Given the description of an element on the screen output the (x, y) to click on. 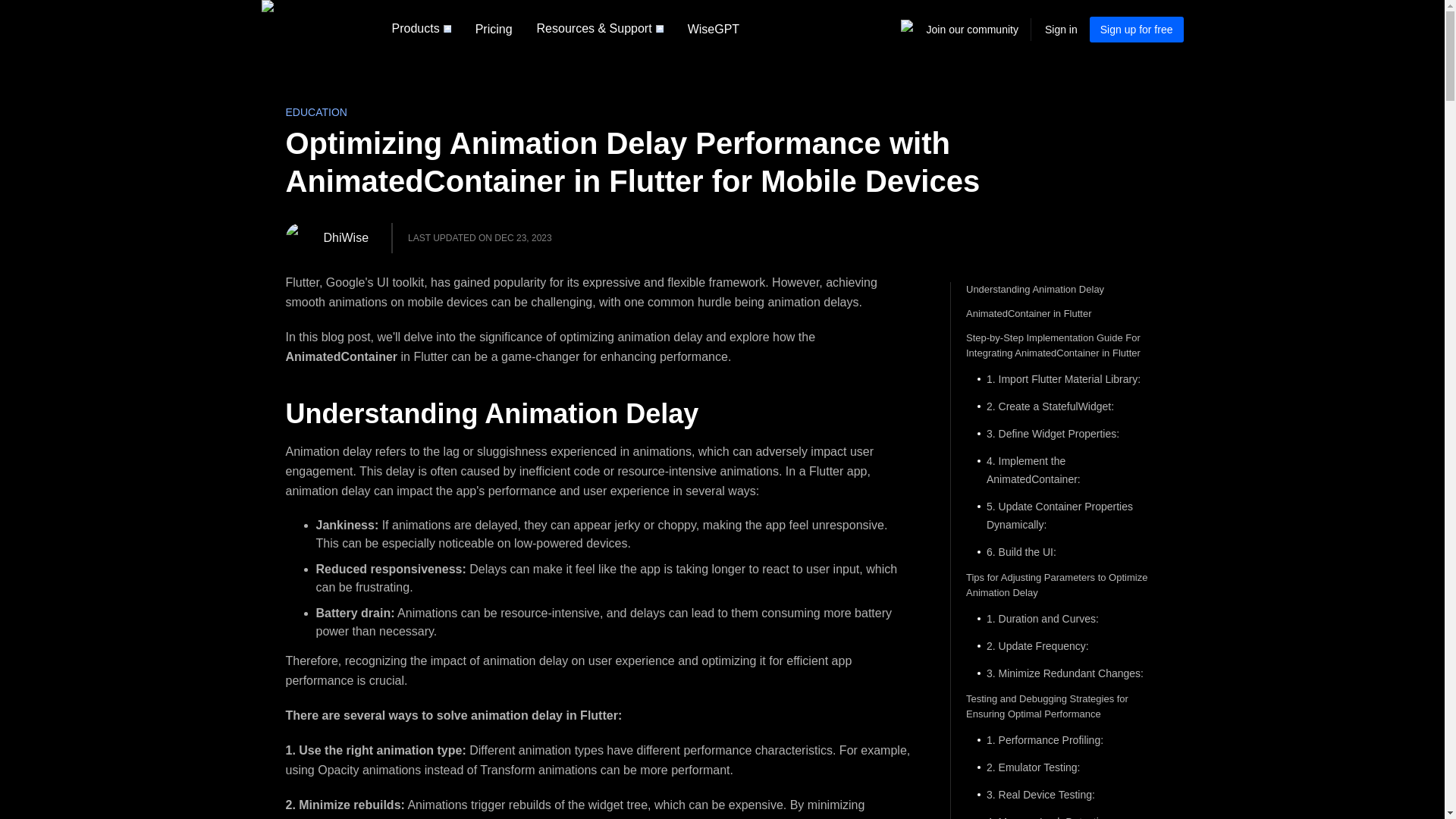
AnimatedContainer in Flutter (1062, 313)
Pricing (493, 29)
4. Memory Leak Detection: (1062, 816)
WiseGPT (713, 29)
1. Duration and Curves: (1062, 618)
6. Build the UI: (1062, 551)
Sign in (1061, 29)
Tips for Adjusting Parameters to Optimize Animation Delay (1062, 585)
3. Define Widget Properties: (1062, 434)
4. Implement the AnimatedContainer: (1062, 470)
